Given the description of an element on the screen output the (x, y) to click on. 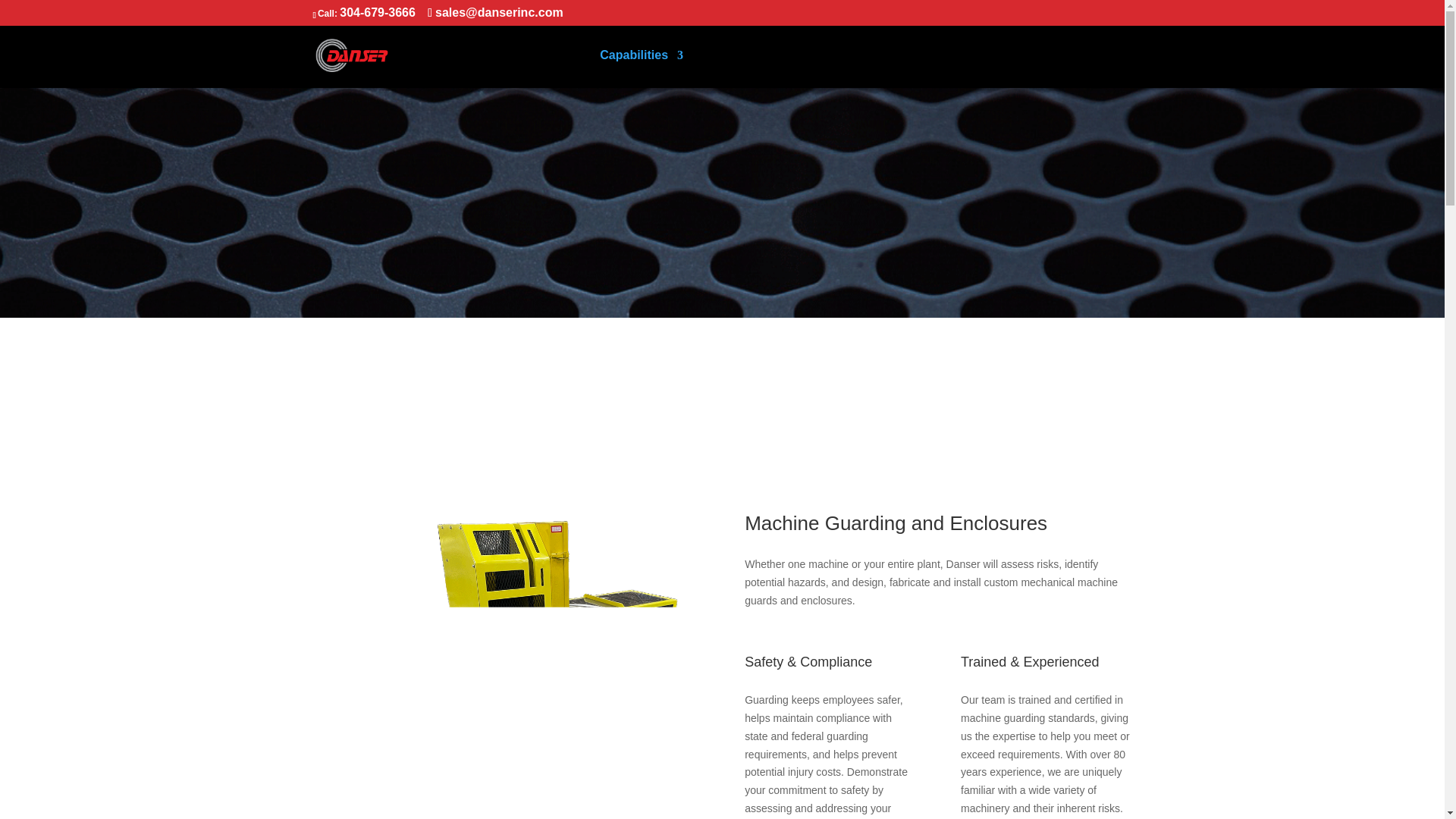
Quality (723, 67)
machine--guarding (505, 655)
Contact (1109, 67)
Home (507, 67)
Digital Library (873, 67)
Project Gallery (977, 67)
Capabilities (640, 67)
304-679-3666 (376, 11)
Safety (561, 67)
About (787, 67)
